Given the description of an element on the screen output the (x, y) to click on. 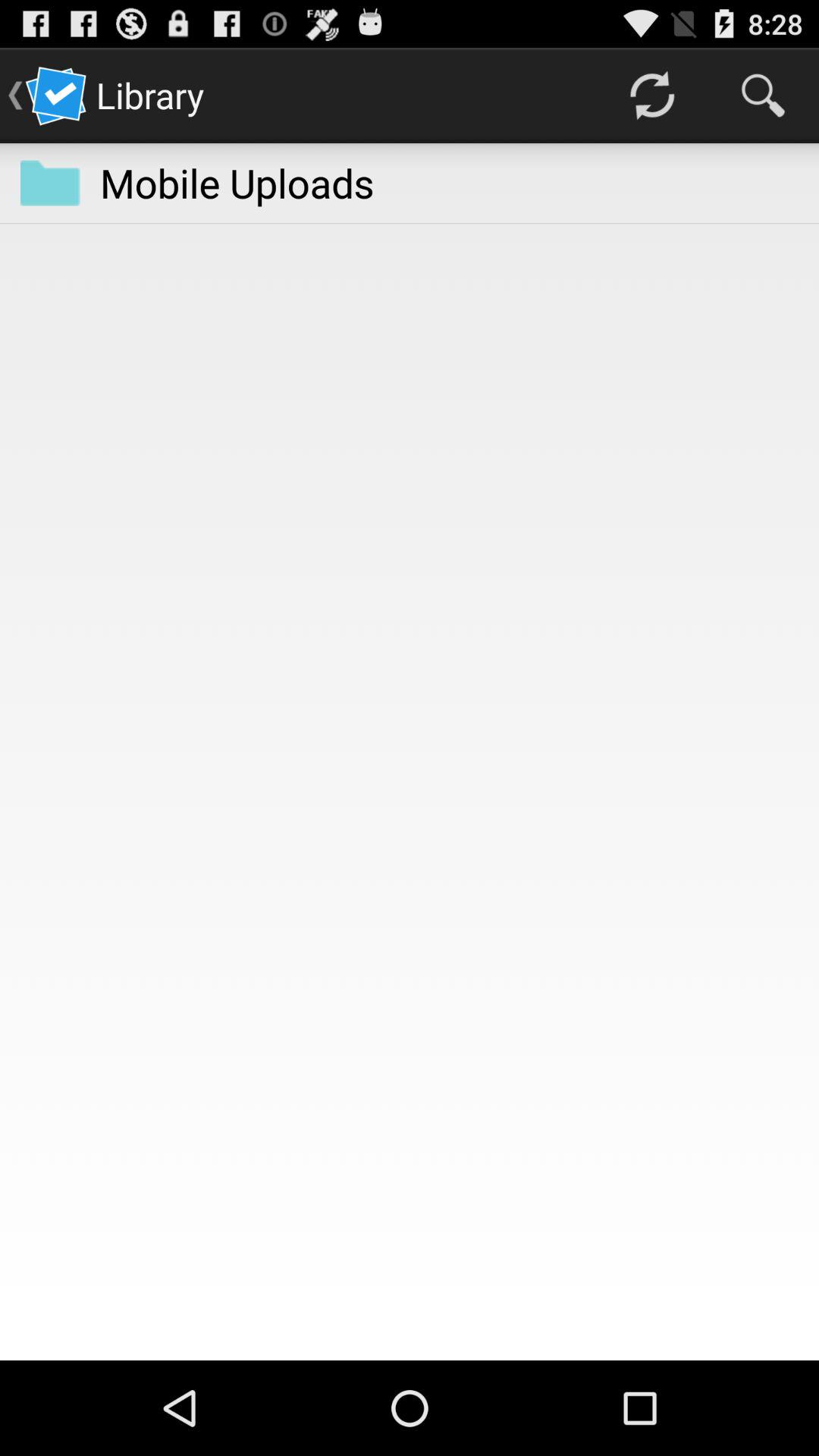
click item to the left of the mobile uploads item (50, 182)
